Given the description of an element on the screen output the (x, y) to click on. 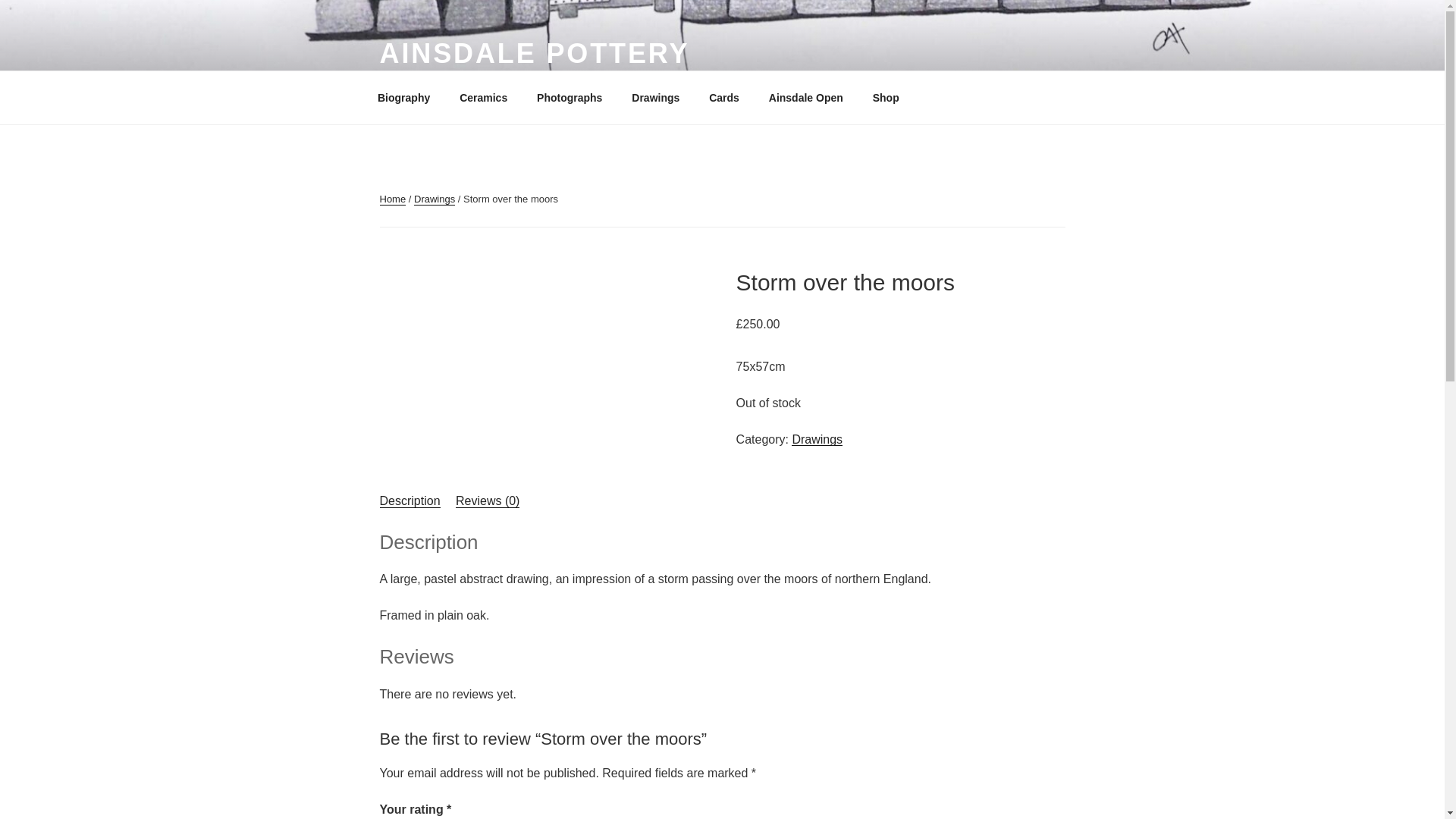
Drawings (433, 198)
Cards (723, 97)
Shop (891, 97)
Drawings (655, 97)
Ainsdale Open (805, 97)
AINSDALE POTTERY (533, 52)
Photographs (569, 97)
Ceramics (483, 97)
Biography (403, 97)
